Given the description of an element on the screen output the (x, y) to click on. 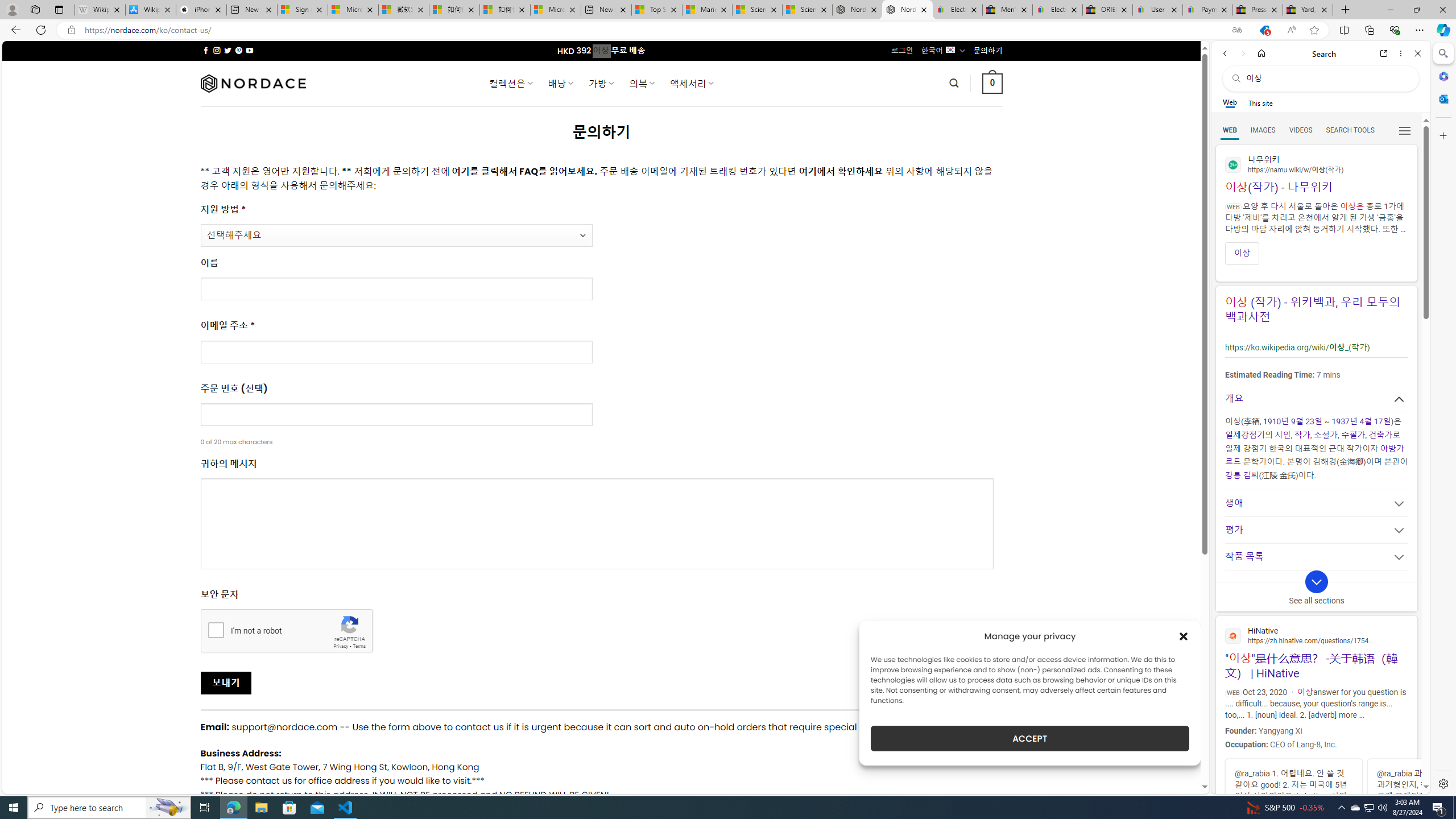
Yard, Garden & Outdoor Living (1308, 9)
Forward (1242, 53)
Class: cmplz-close (1183, 636)
This site scope (1259, 102)
